Given the description of an element on the screen output the (x, y) to click on. 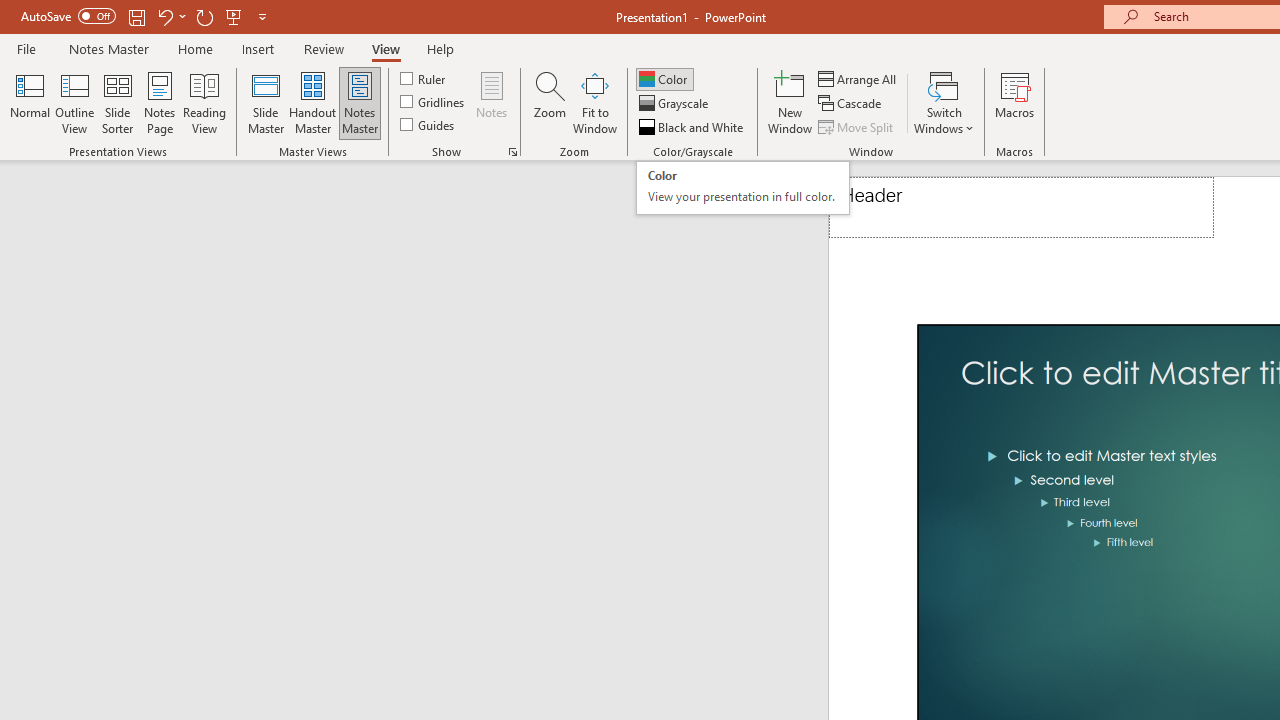
Handout Master (312, 102)
Fit to Window (594, 102)
Cascade (851, 103)
Outline View (74, 102)
Move Split (857, 126)
Ruler (742, 188)
Black and White (423, 78)
